Given the description of an element on the screen output the (x, y) to click on. 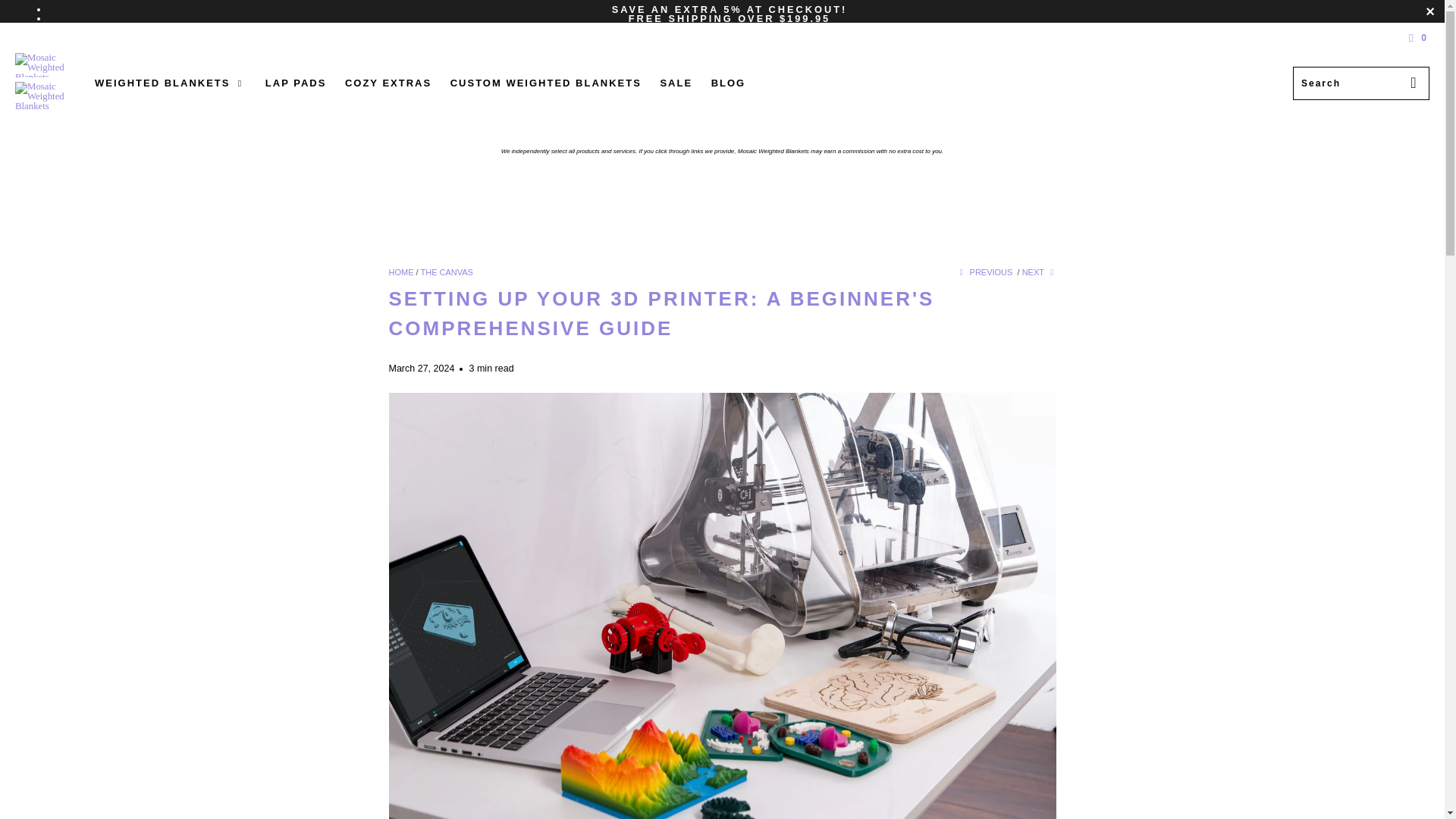
LAP PADS (295, 83)
THE CANVAS (445, 271)
Mosaic Weighted Blankets (400, 271)
CUSTOM WEIGHTED BLANKETS (545, 83)
WEIGHTED BLANKETS (170, 83)
The Canvas (445, 271)
BLOG (728, 83)
Mosaic Weighted Blankets (47, 83)
NEXT (1039, 271)
HOME (400, 271)
